Given the description of an element on the screen output the (x, y) to click on. 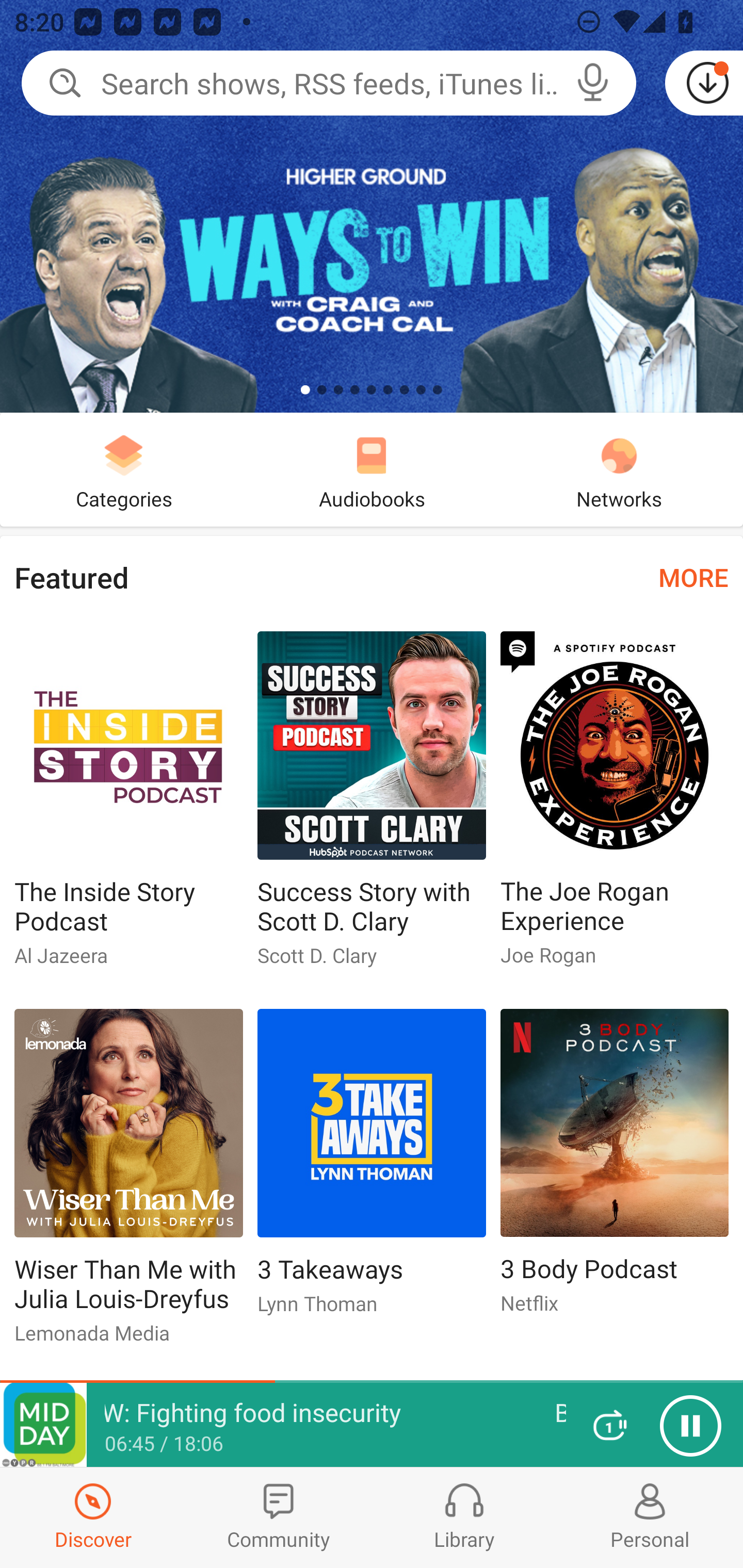
Ways To Win (371, 206)
Categories (123, 469)
Audiobooks (371, 469)
Networks (619, 469)
MORE (693, 576)
3 Takeaways 3 Takeaways Lynn Thoman (371, 1169)
3 Body Podcast 3 Body Podcast Netflix (614, 1169)
Pause (690, 1425)
Discover (92, 1517)
Community (278, 1517)
